Given the description of an element on the screen output the (x, y) to click on. 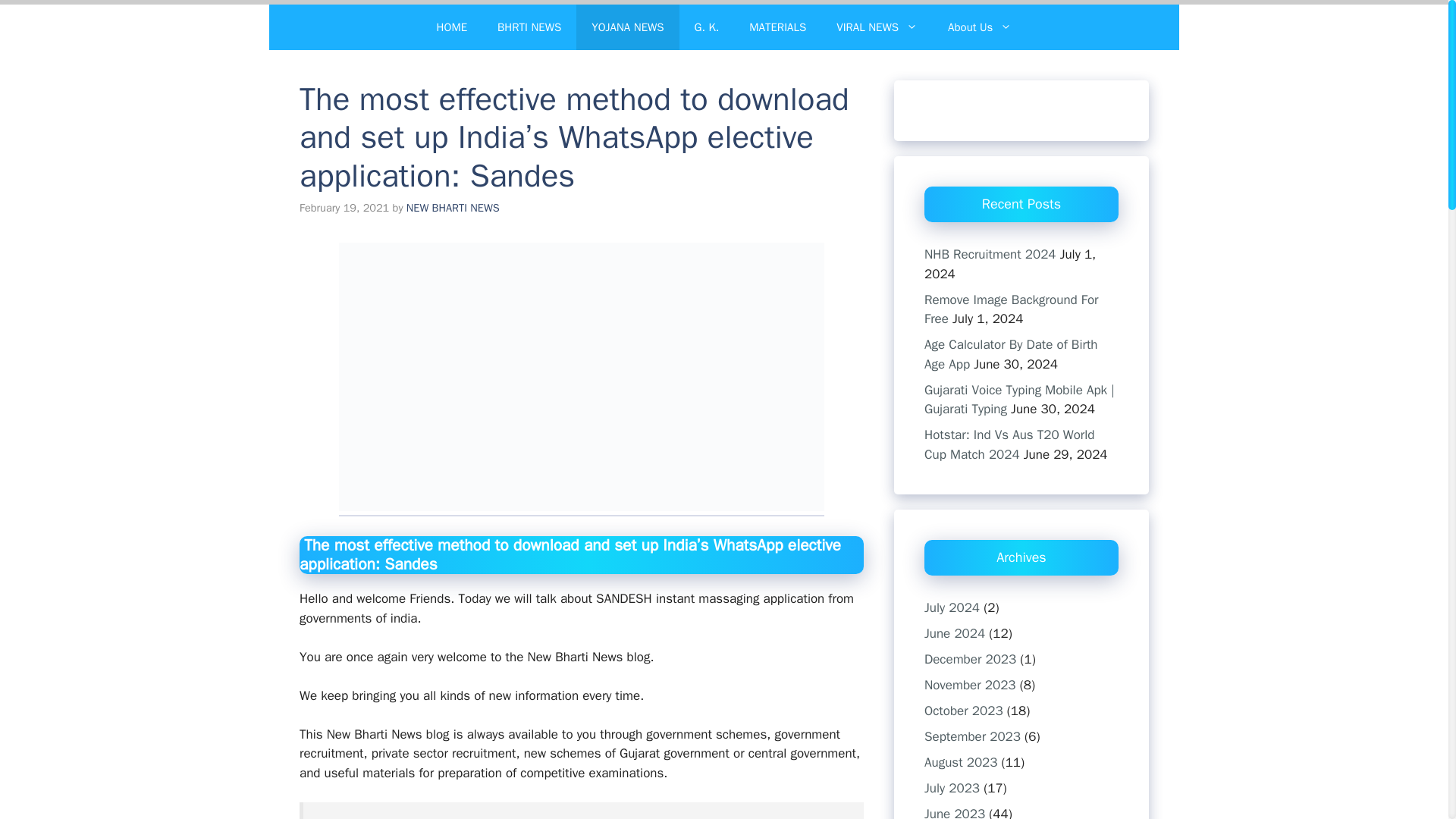
View all posts by NEW BHARTI NEWS (452, 207)
MATERIALS (777, 26)
BHRTI NEWS (528, 26)
VIRAL NEWS (877, 26)
NEW BHARTI NEWS (452, 207)
HOME (451, 26)
G. K. (707, 26)
YOJANA NEWS (627, 26)
About Us (979, 26)
